Given the description of an element on the screen output the (x, y) to click on. 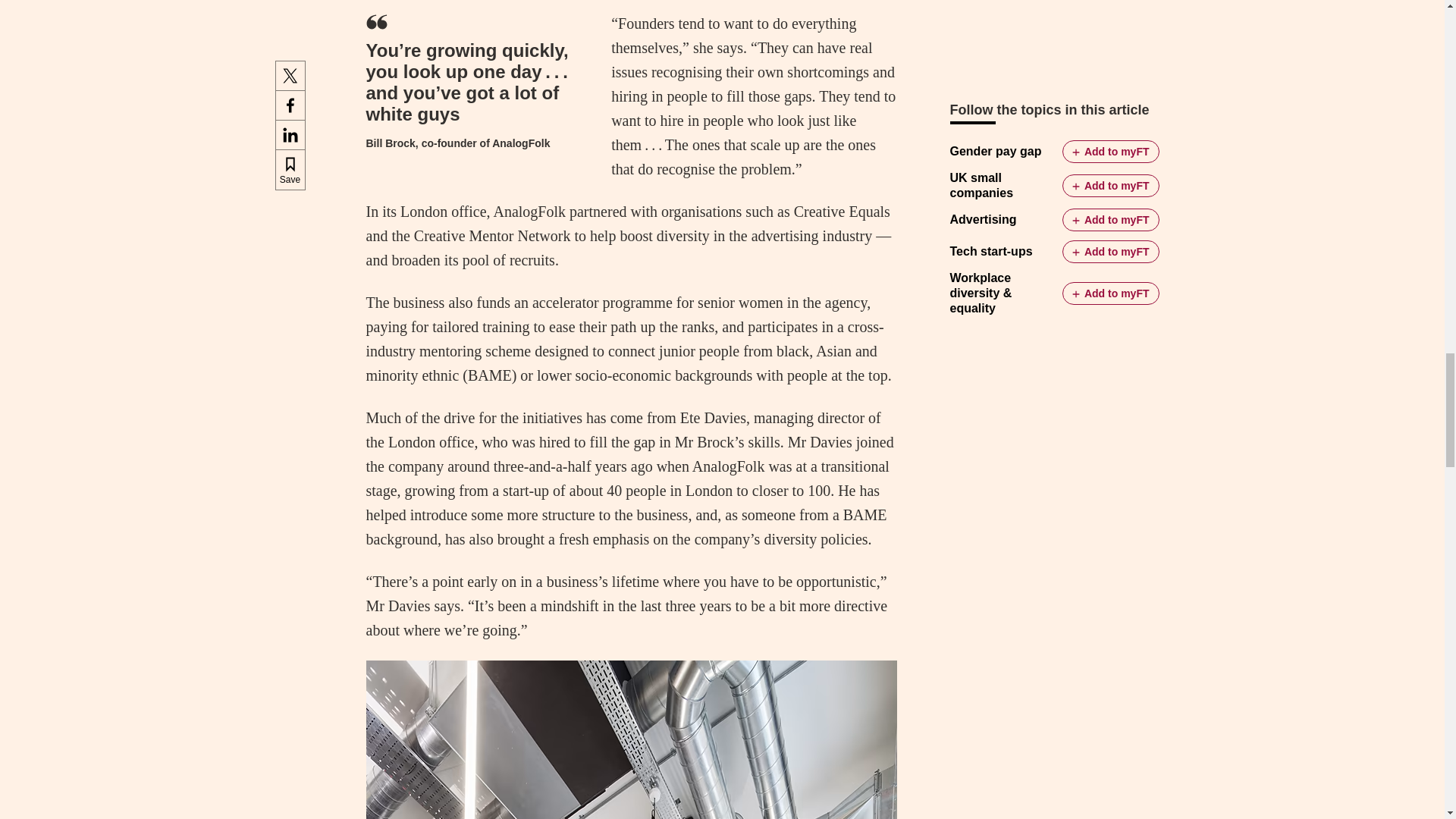
Add Advertising to myFT (1110, 219)
Add Gender pay gap to myFT (1110, 151)
Add Tech start-ups to myFT (1110, 251)
Add UK small companies to myFT (1110, 185)
